Given the description of an element on the screen output the (x, y) to click on. 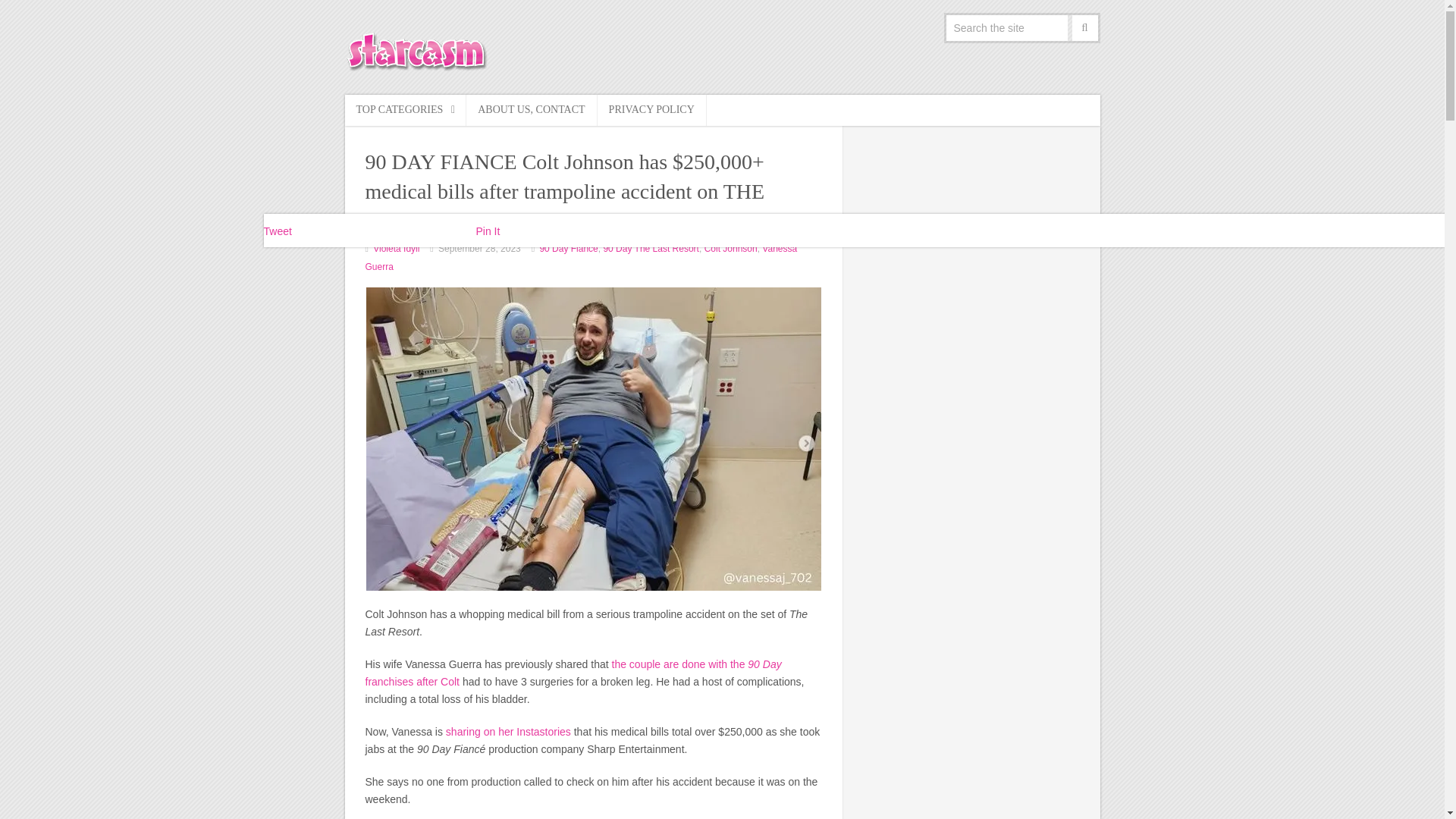
Colt Johnson (730, 248)
Violeta Idyll (395, 248)
View all posts in Colt Johnson (730, 248)
View all posts in 90 Day The Last Resort (650, 248)
PRIVACY POLICY (651, 110)
Vanessa Guerra (581, 257)
the couple are done with the 90 Day franchises after Colt (573, 672)
Posts by Violeta Idyll (395, 248)
sharing on her Instastories (507, 731)
View all posts in Vanessa Guerra (581, 257)
TOP CATEGORIES (404, 110)
90 Day Fiance (567, 248)
90 Day The Last Resort (650, 248)
ABOUT US, CONTACT (530, 110)
